Given the description of an element on the screen output the (x, y) to click on. 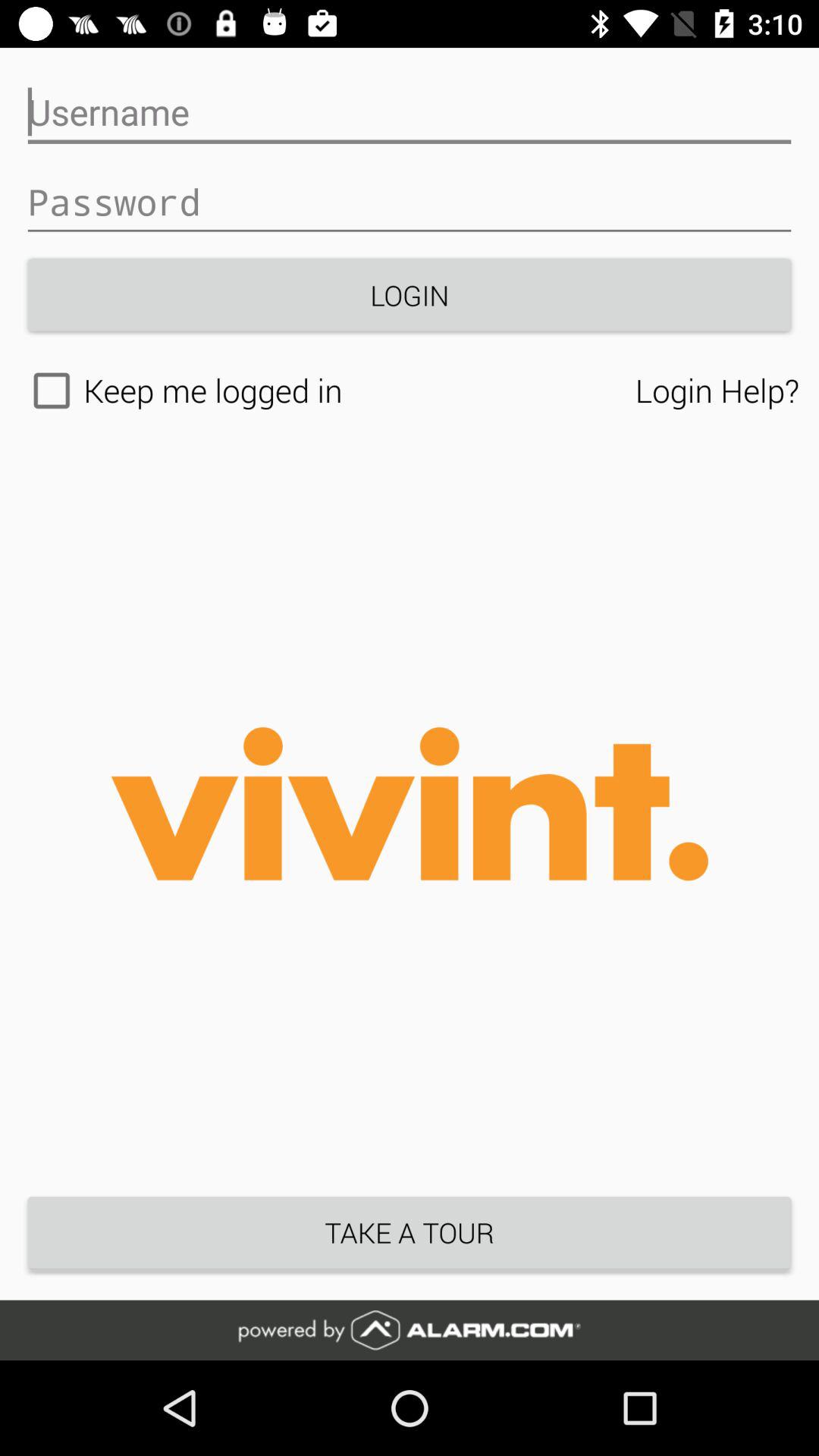
press take a tour icon (409, 1232)
